Given the description of an element on the screen output the (x, y) to click on. 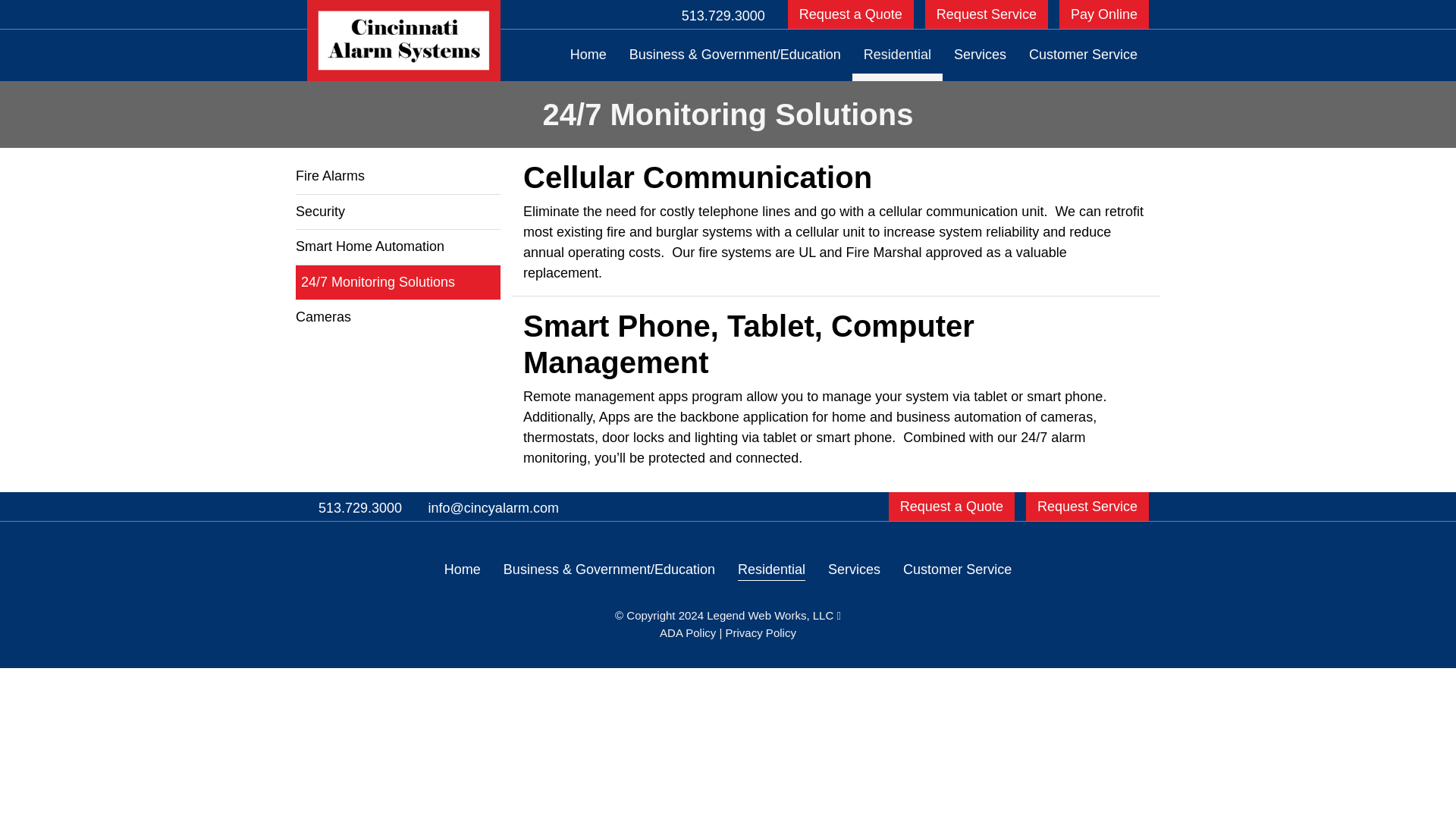
Residential (896, 54)
Pay Online (1103, 14)
Fire Alarms (397, 176)
Services (854, 569)
Customer Service (1082, 54)
Request a Quote (951, 506)
513.729.3000 (722, 14)
Legend Web Works, LLC (773, 615)
Home (588, 54)
Residential (771, 569)
Cameras (397, 316)
Privacy Policy (760, 632)
Request Service (986, 14)
Home (462, 569)
Customer Service (956, 569)
